Given the description of an element on the screen output the (x, y) to click on. 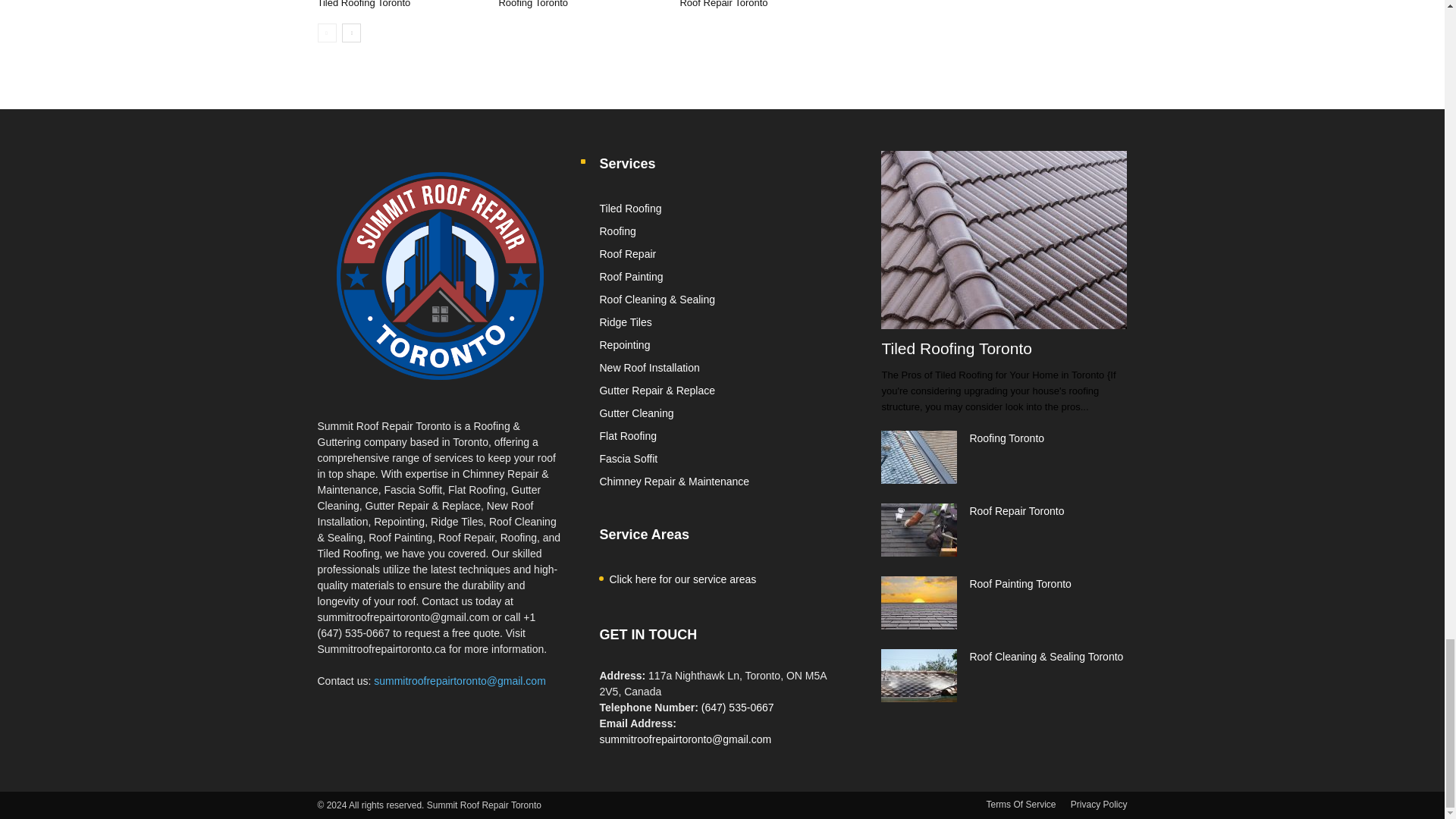
Tiled Roofing Toronto (363, 4)
